Given the description of an element on the screen output the (x, y) to click on. 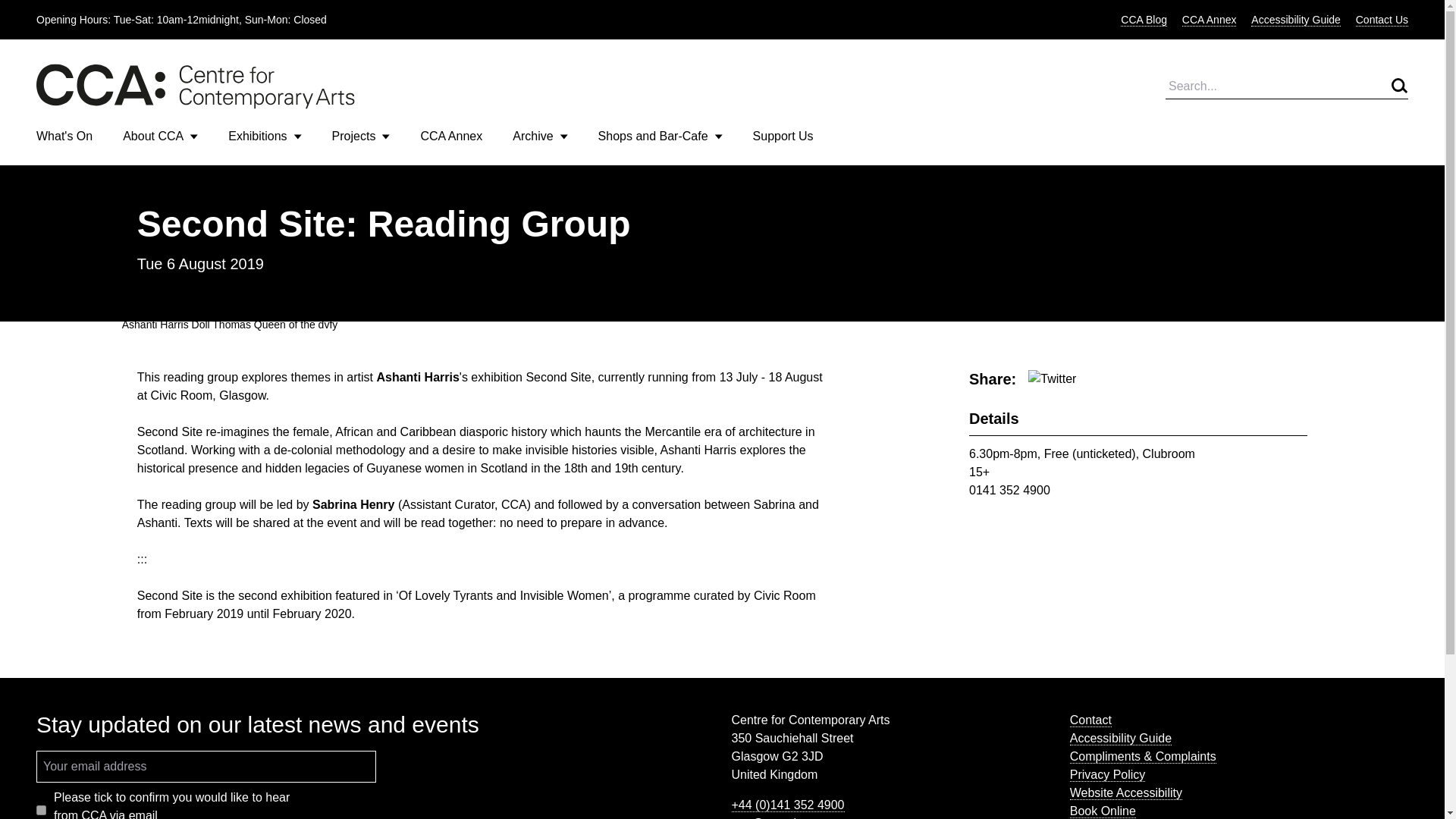
About CCA (160, 136)
Projects (360, 136)
Contact Us (1381, 19)
CCA Blog (1144, 19)
CCA Annex (450, 135)
CCA Annex (1209, 19)
Share on Twitter (1051, 379)
Exhibitions (264, 136)
What's On (64, 135)
Archive (539, 136)
